Given the description of an element on the screen output the (x, y) to click on. 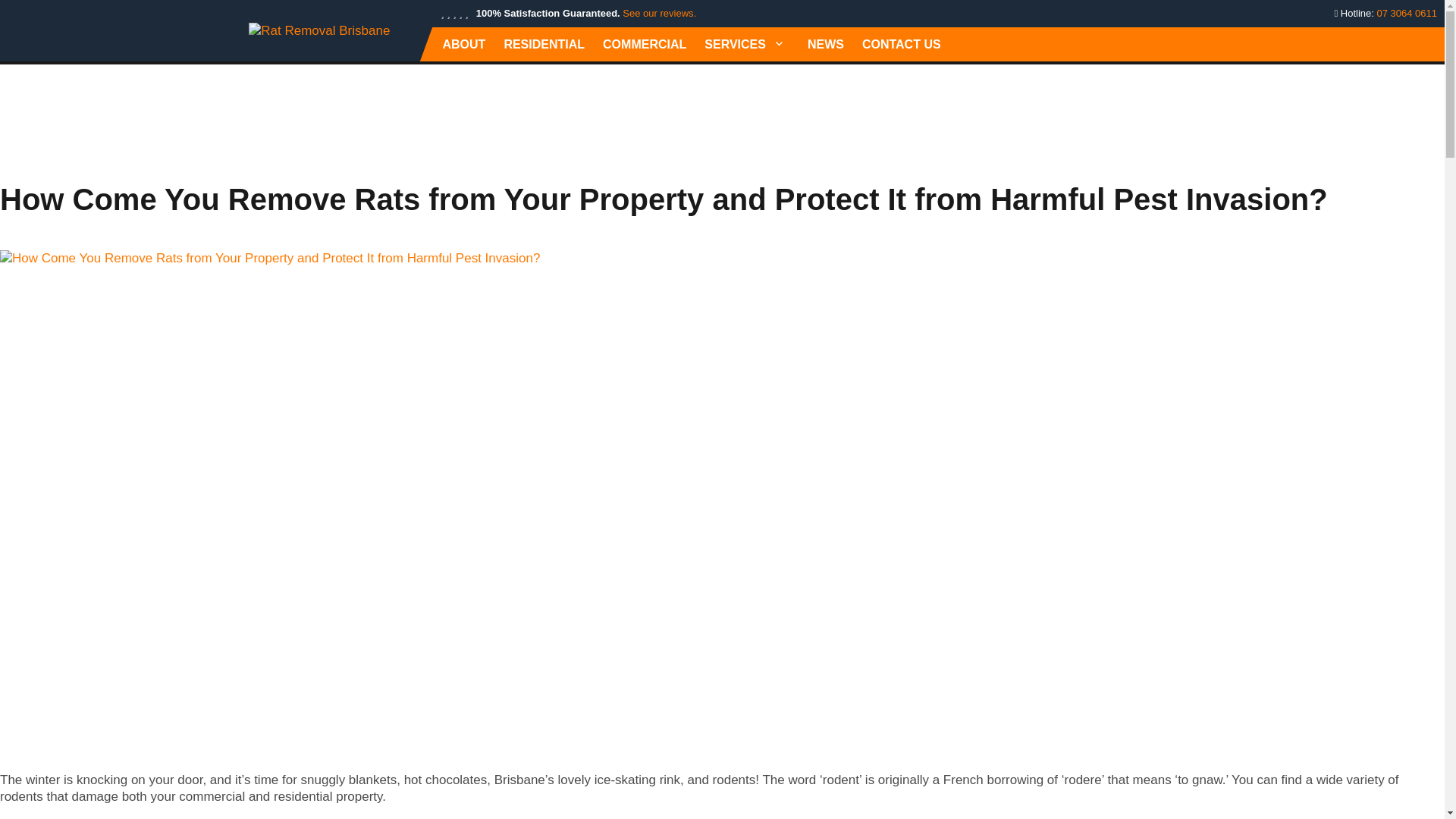
RESIDENTIAL (543, 44)
NEWS (825, 44)
CONTACT US (901, 44)
See our reviews. (659, 12)
SERVICES (746, 44)
COMMERCIAL (644, 44)
07 3064 0611 (1406, 12)
ABOUT (463, 44)
